Given the description of an element on the screen output the (x, y) to click on. 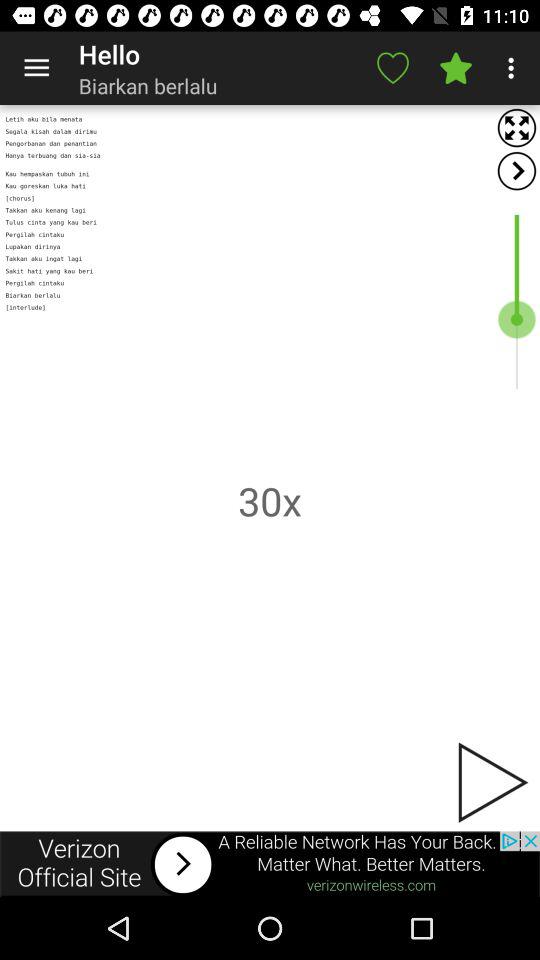
play button (491, 782)
